Given the description of an element on the screen output the (x, y) to click on. 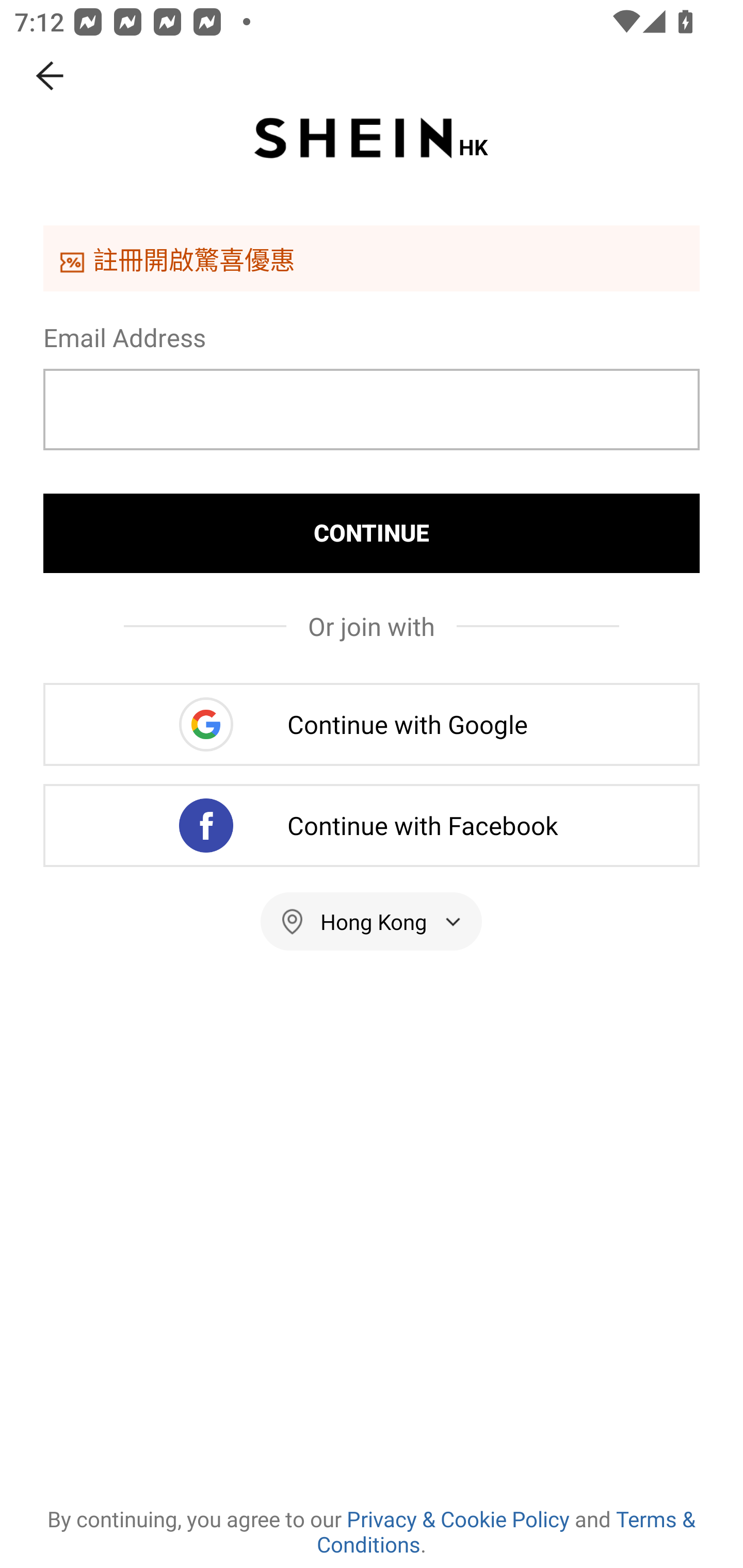
CLOSE (50, 75)
CONTINUE (371, 532)
Continue with Google (371, 724)
Continue with Facebook (371, 825)
Hong Kong (371, 921)
